Given the description of an element on the screen output the (x, y) to click on. 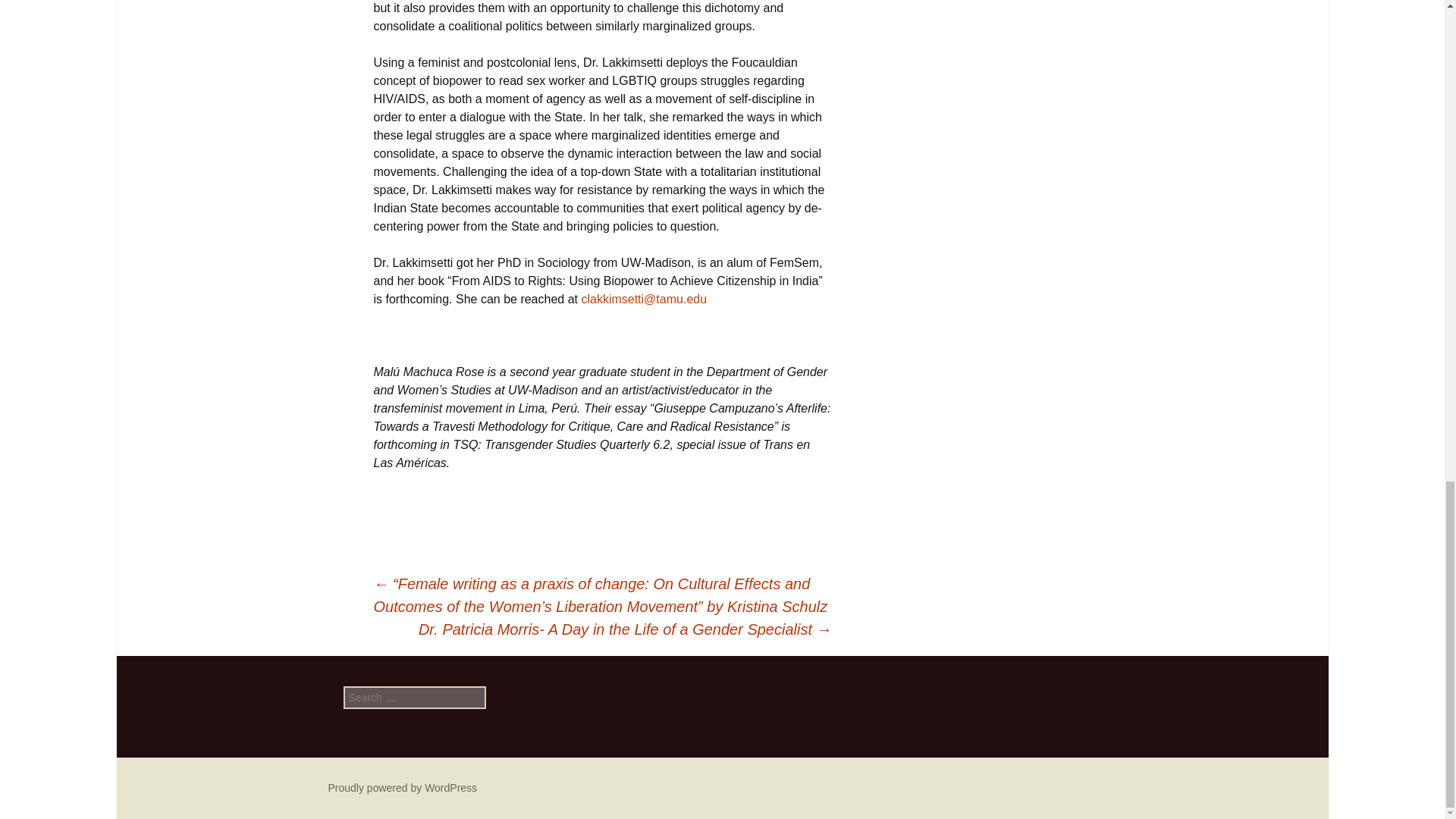
Proudly powered by WordPress (402, 787)
